Given the description of an element on the screen output the (x, y) to click on. 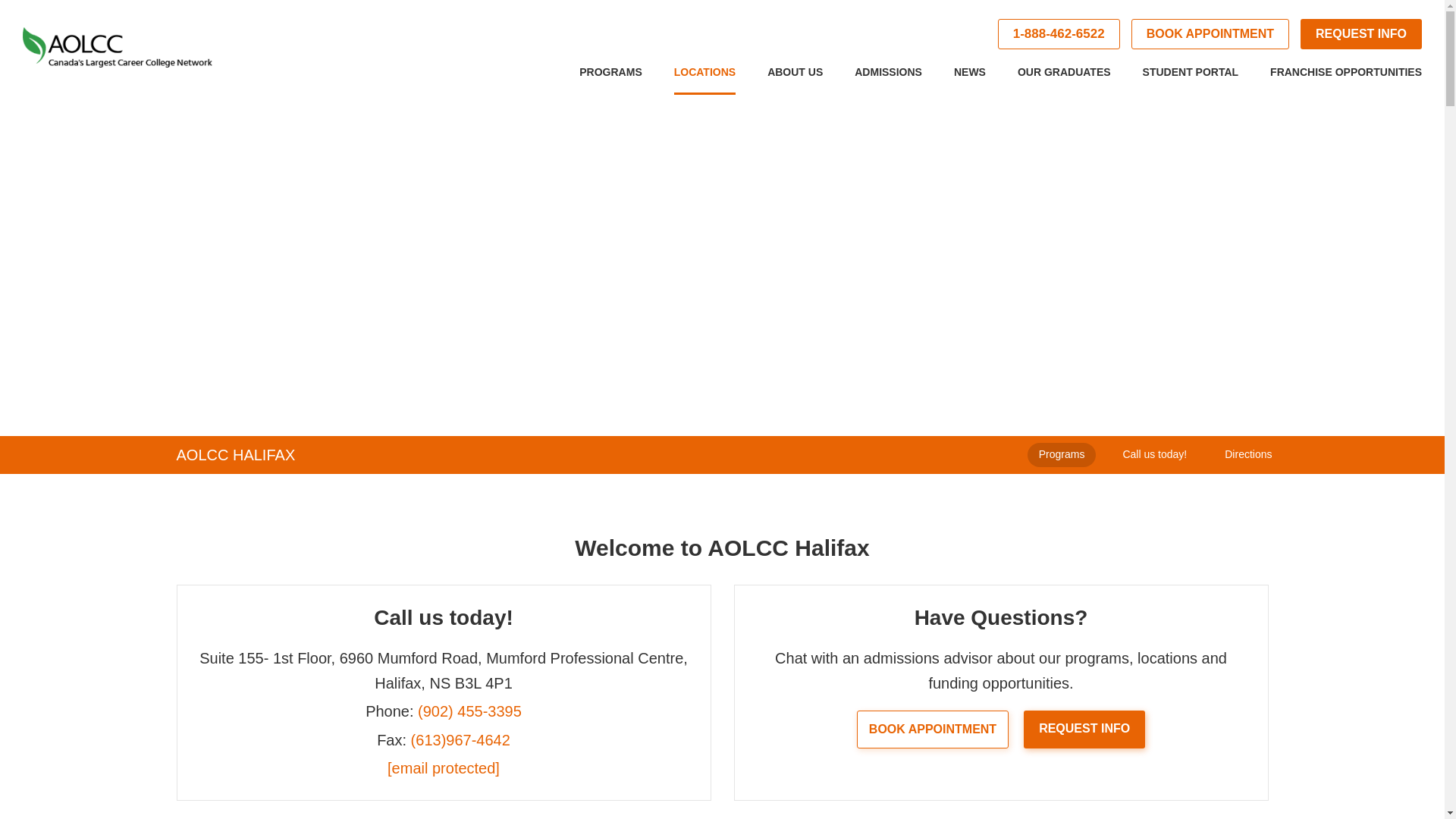
BOOK APPOINTMENT (1209, 33)
PROGRAMS (610, 79)
Request Info (1361, 33)
1-888-462-6522 (1058, 33)
Book Appointment (1209, 33)
1-888-462-6522 (1058, 33)
Locations (704, 79)
REQUEST INFO (1361, 33)
Academy of Learning (117, 47)
LOCATIONS (704, 79)
